Given the description of an element on the screen output the (x, y) to click on. 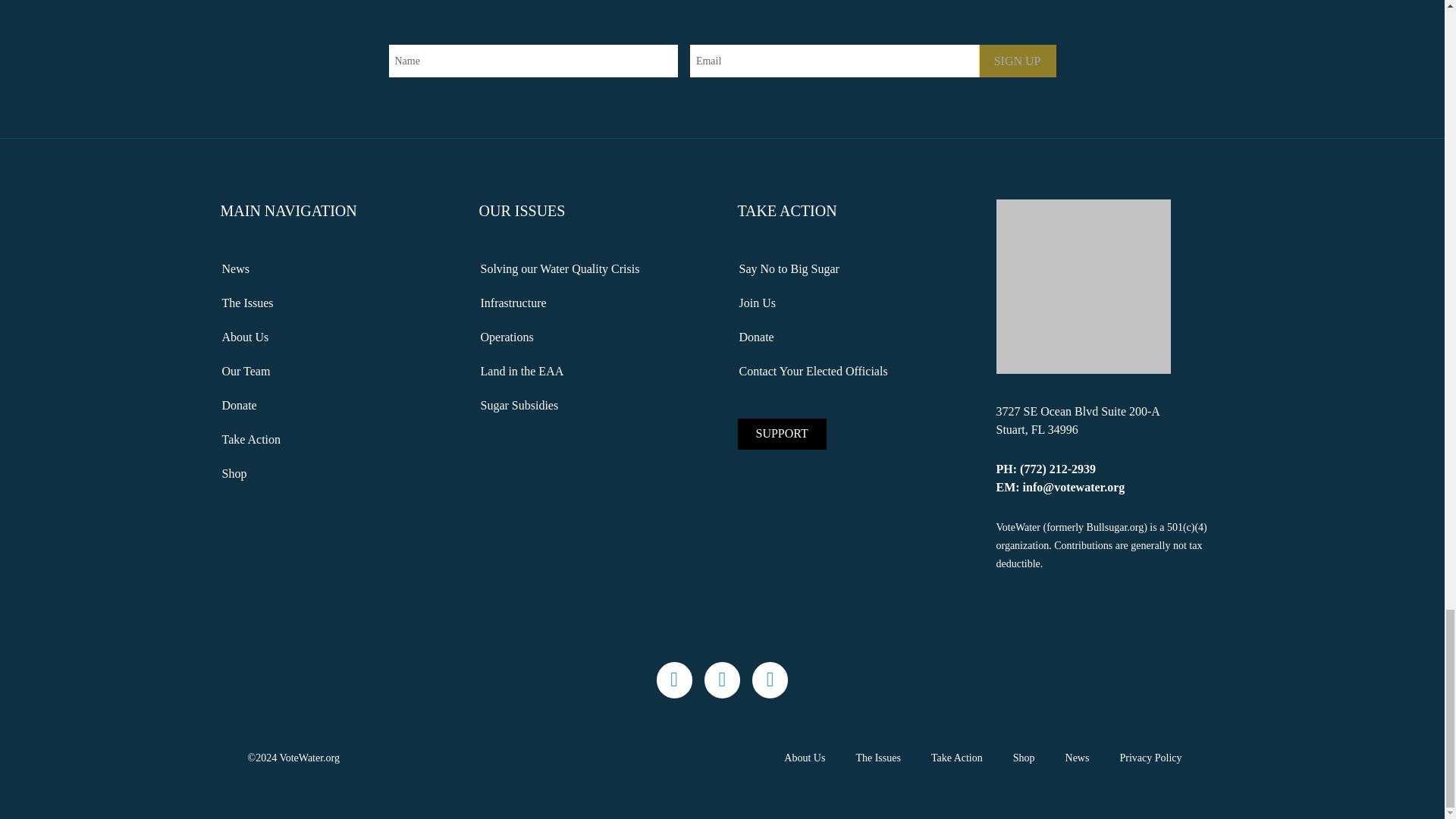
Solving our Water Quality Crisis (593, 268)
Our Team (334, 371)
Sign up (1017, 60)
Sugar Subsidies (593, 405)
Take Action (334, 439)
Donate (334, 405)
Say No to Big Sugar (851, 268)
Sign up (1017, 60)
Land in the EAA (593, 371)
Infrastructure (593, 303)
